Given the description of an element on the screen output the (x, y) to click on. 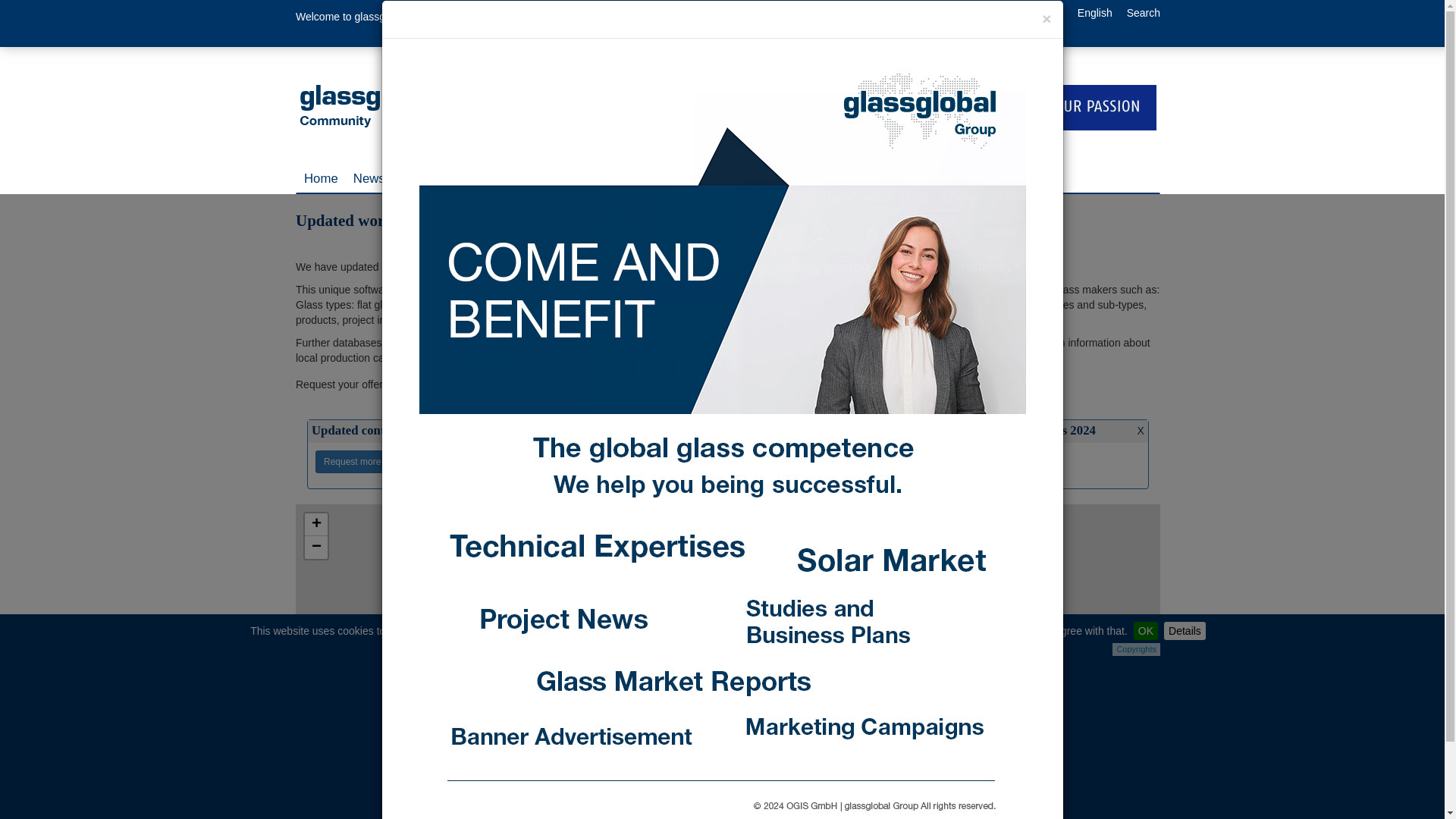
Zoom out (315, 547)
Search (1143, 12)
Zoom in (315, 524)
YouTube (495, 22)
Details (1184, 630)
News (369, 178)
Projects (502, 178)
Login (996, 12)
Technology (432, 178)
Twitter (466, 22)
English (1094, 12)
Home (321, 178)
LinkedIn (436, 22)
Glassglobal Market Studies (952, 178)
OK (1145, 630)
